Given the description of an element on the screen output the (x, y) to click on. 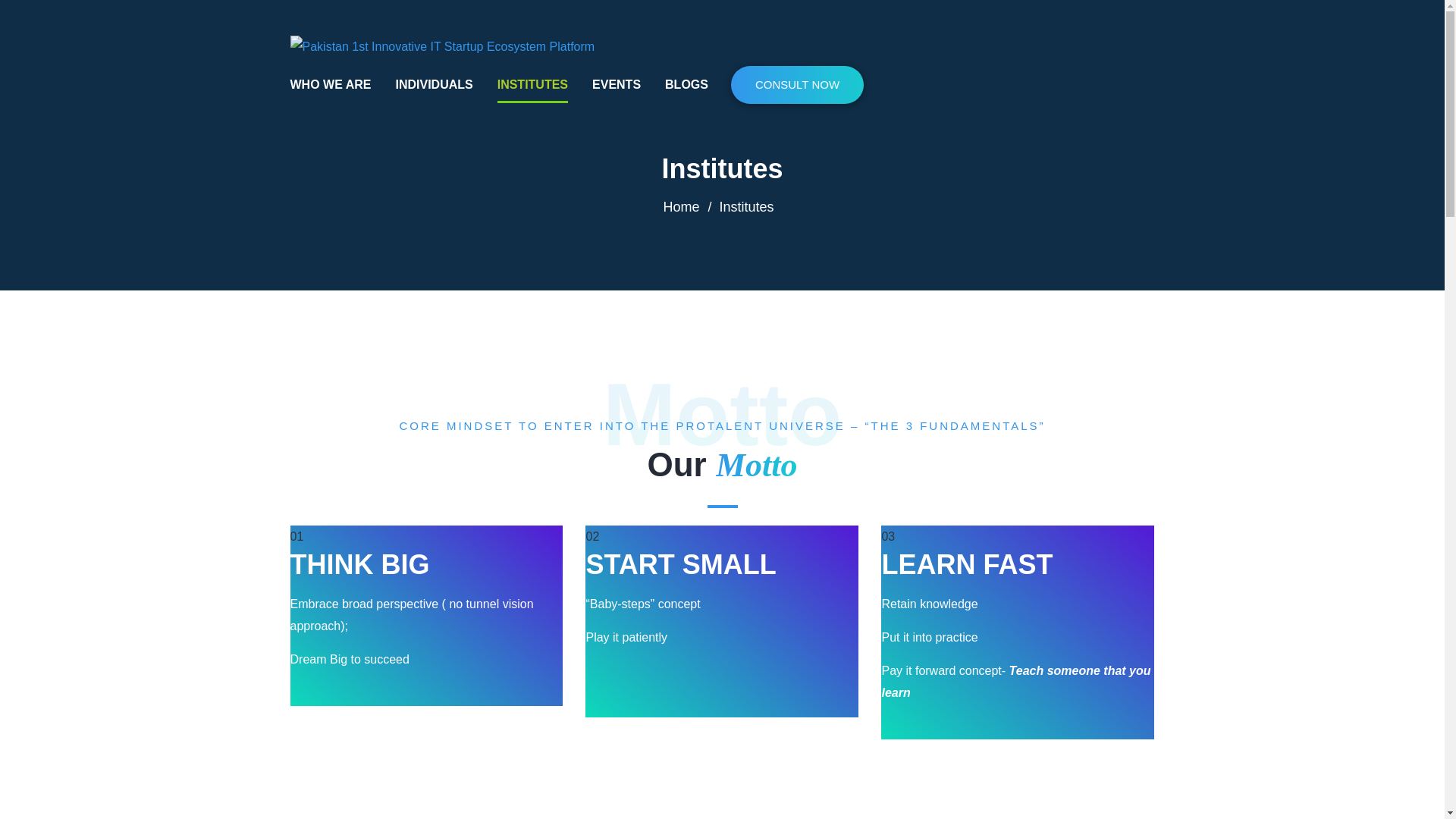
Pakistan 1st Innovative IT Startup Ecosystem Platform (441, 45)
INSTITUTES (532, 84)
WHO WE ARE (330, 84)
INDIVIDUALS (432, 84)
EVENTS (616, 84)
Home (680, 206)
BLOGS (686, 84)
CONSULT NOW (796, 85)
